Given the description of an element on the screen output the (x, y) to click on. 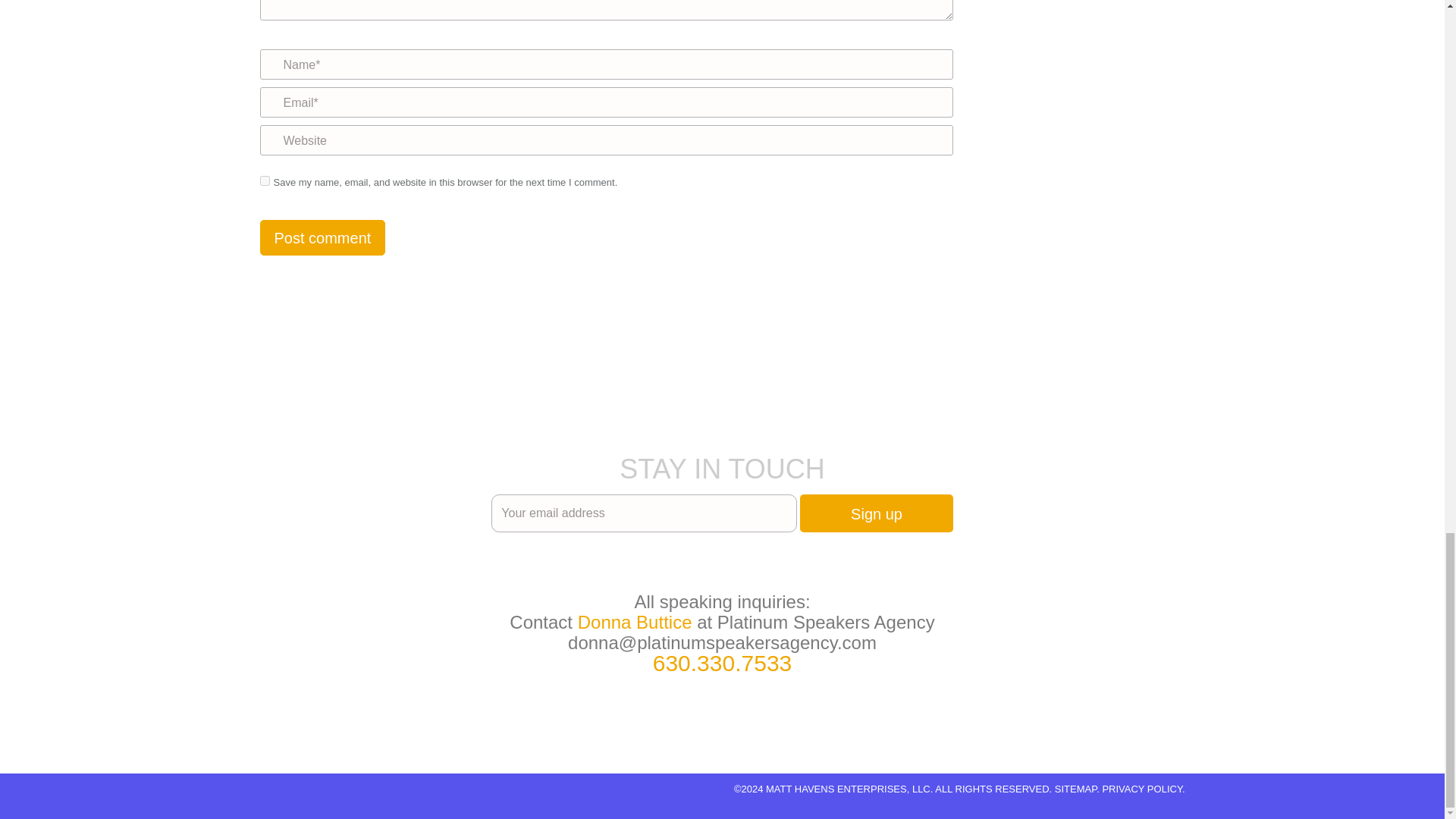
PRIVACY POLICY. (1143, 788)
yes (264, 180)
Post comment (322, 237)
SITEMAP. (1076, 788)
Sign up (875, 513)
Sign up (875, 513)
